Given the description of an element on the screen output the (x, y) to click on. 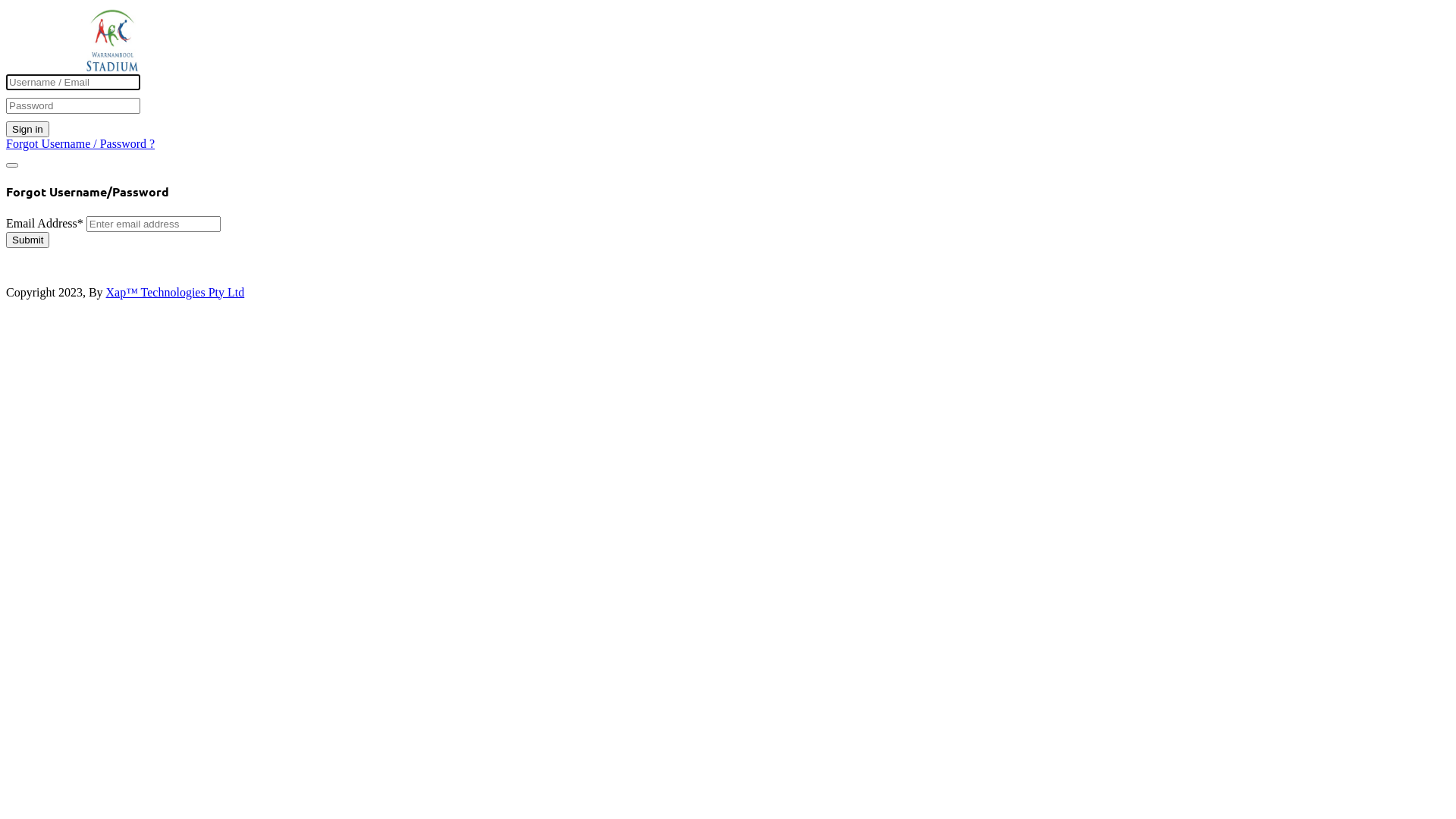
Sign in Element type: text (27, 129)
Forgot Username / Password ? Element type: text (80, 143)
Submit Element type: text (27, 239)
